Given the description of an element on the screen output the (x, y) to click on. 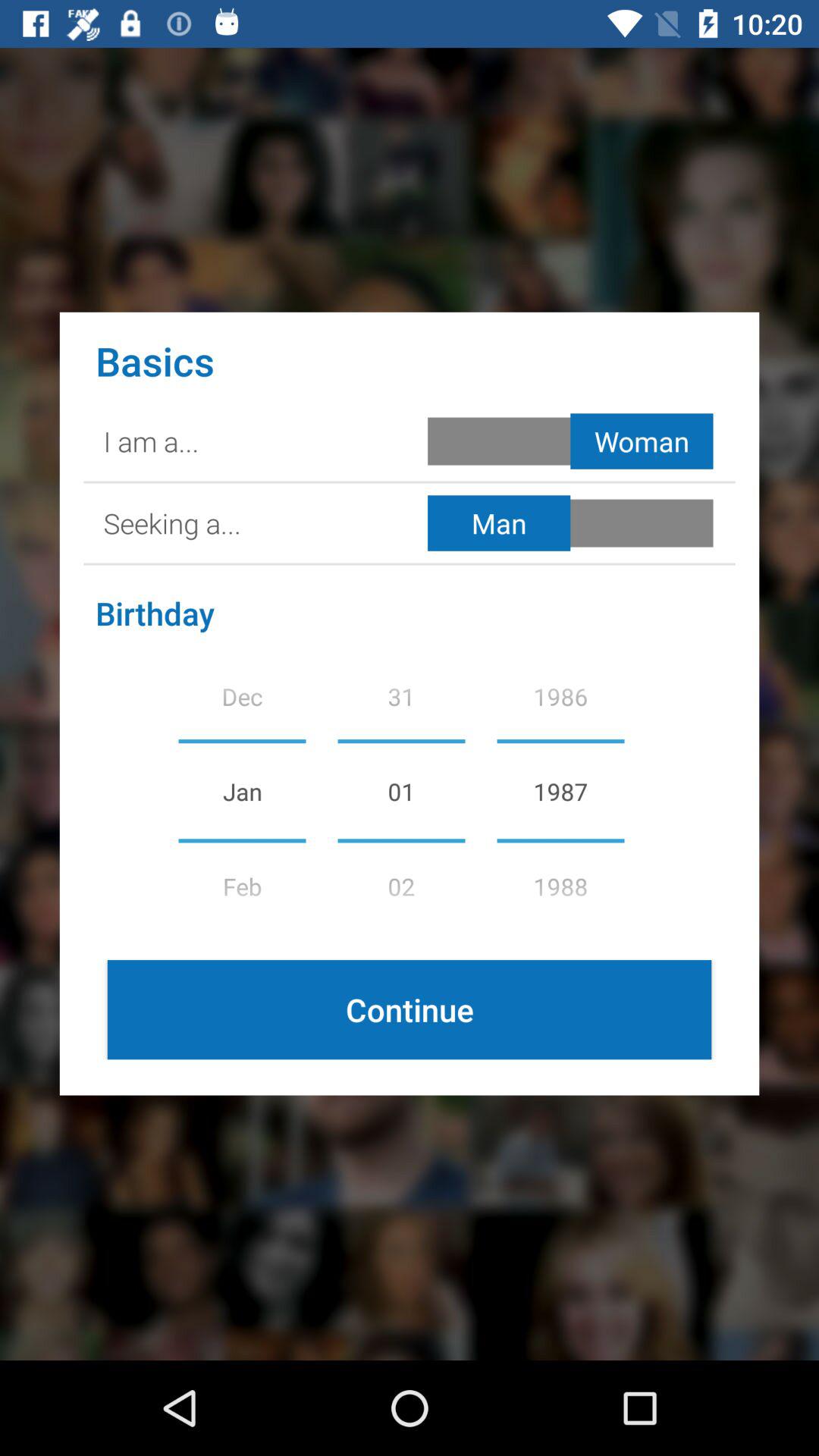
toggle woman selection (573, 441)
